Given the description of an element on the screen output the (x, y) to click on. 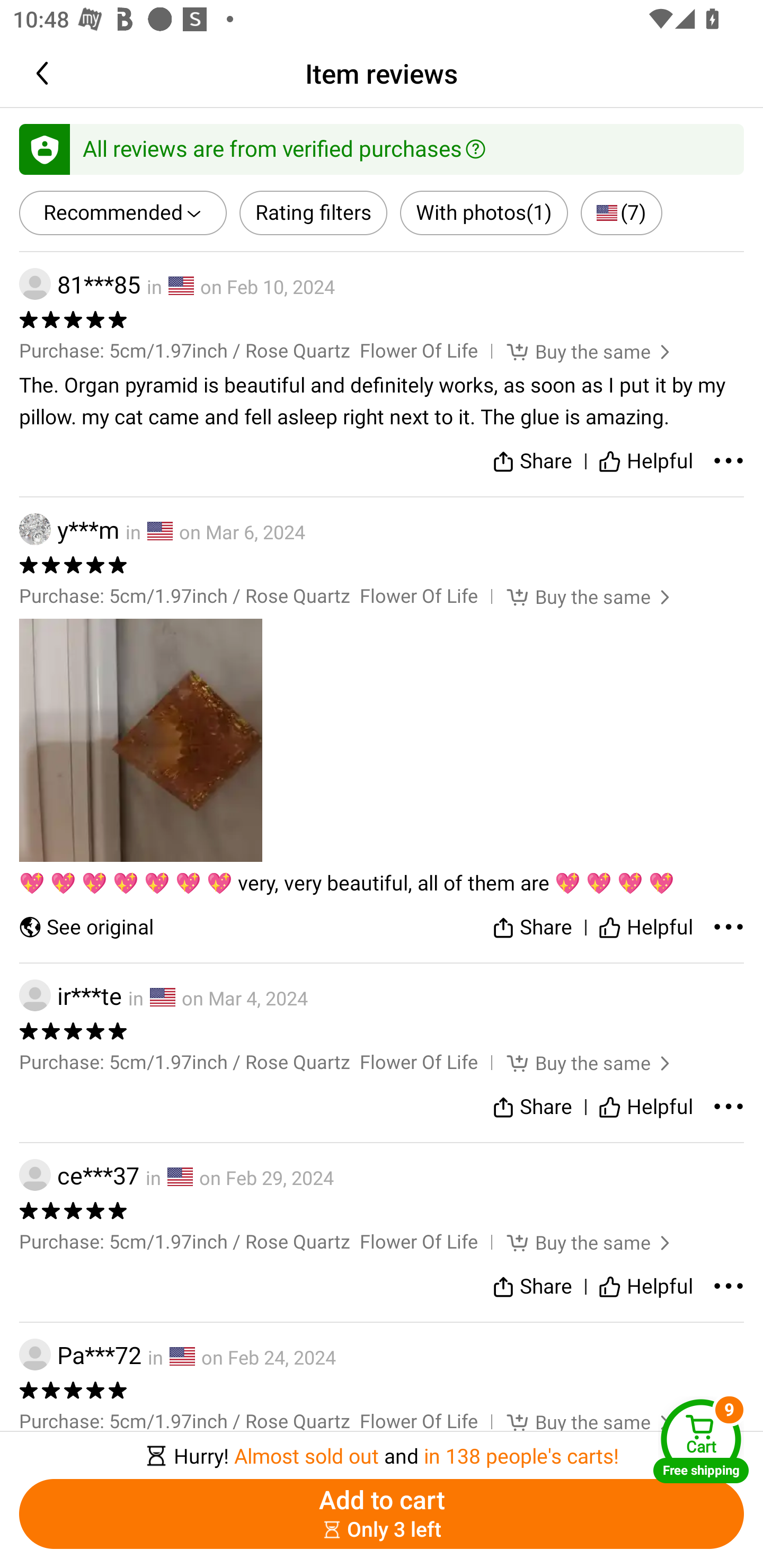
Item reviews (381, 72)
All reviews are from verified purchases  (381, 148)
Recommended (122, 213)
Rating filters (313, 213)
With photos(1) (483, 213)
(7) (621, 213)
81***85 (79, 284)
   Buy the same   (576, 350)
  Share (532, 461)
  Helpful (645, 461)
y***m (69, 528)
   Buy the same   (576, 596)
  See original (86, 927)
  Share (532, 927)
  Helpful (645, 927)
ir***te (70, 995)
   Buy the same   (576, 1062)
  Share (532, 1106)
  Helpful (645, 1106)
ce***37 (79, 1174)
   Buy the same   (576, 1241)
  Share (532, 1286)
  Helpful (645, 1286)
Pa***72 (80, 1354)
Cart Free shipping Cart (701, 1440)
   Buy the same   (576, 1421)
Add to cart ￼￼Only 3 left (381, 1513)
